Given the description of an element on the screen output the (x, y) to click on. 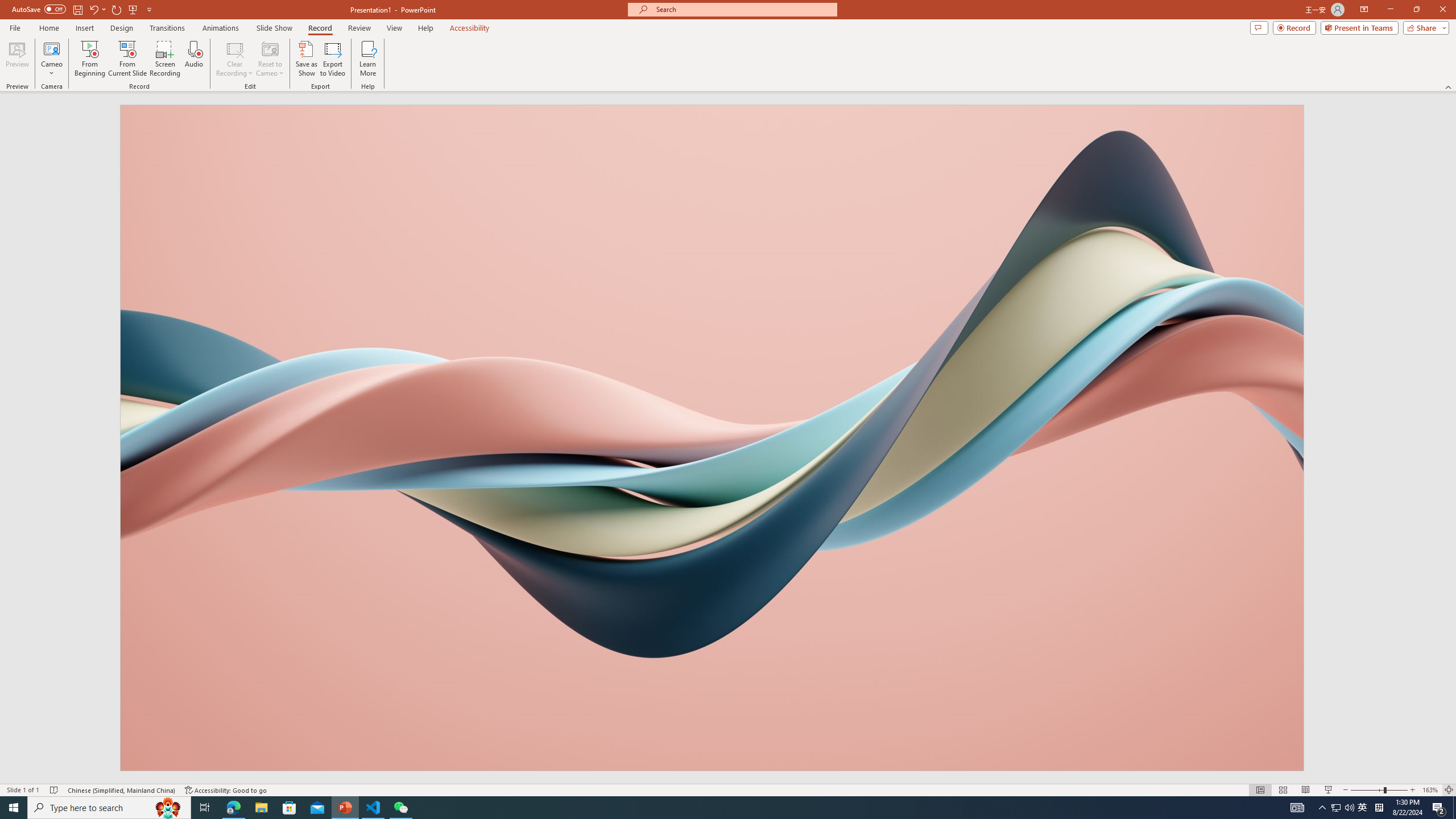
Wavy 3D art (711, 437)
